Given the description of an element on the screen output the (x, y) to click on. 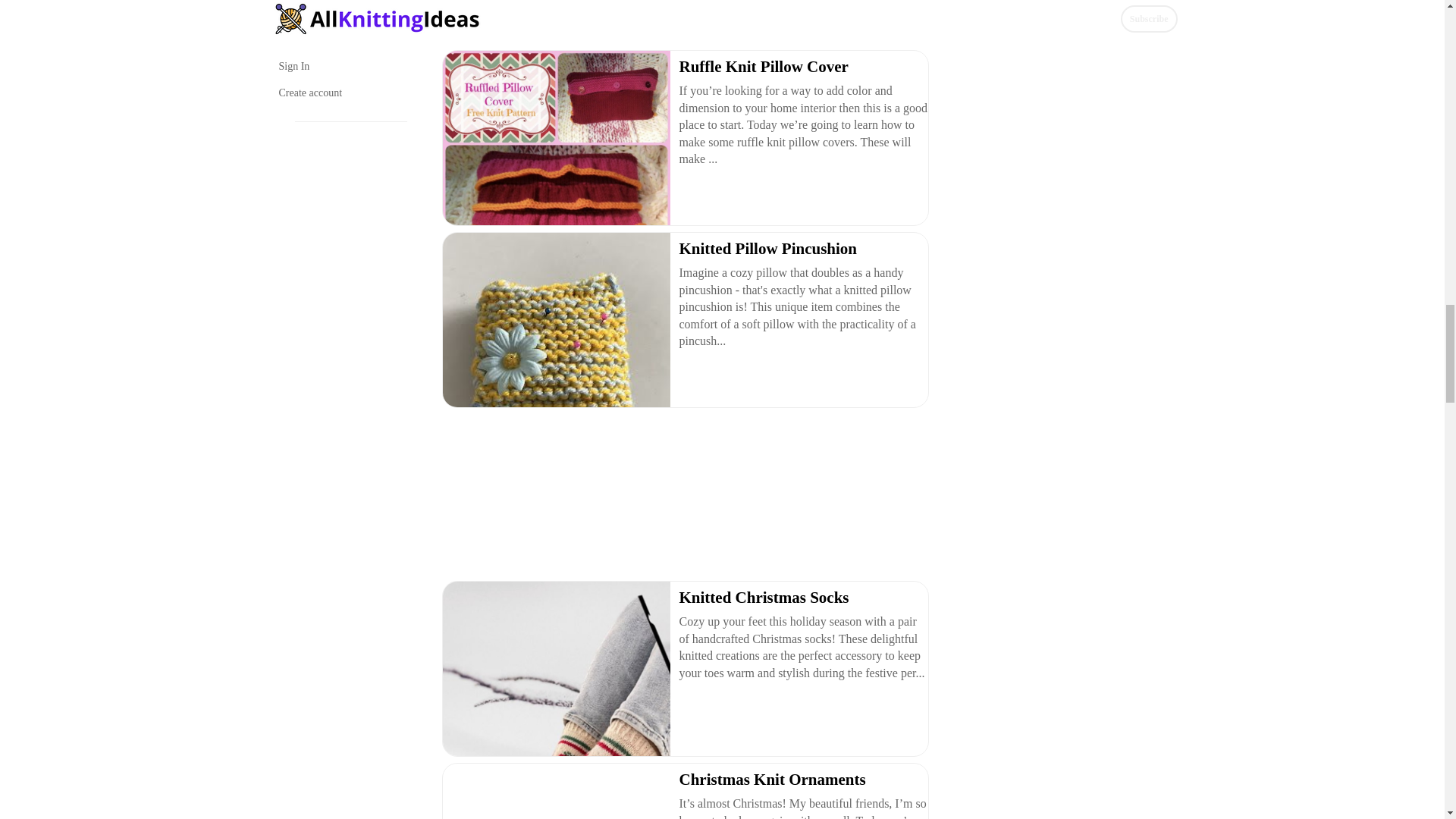
Advertisement (683, 497)
Advertisement (683, 21)
